Given the description of an element on the screen output the (x, y) to click on. 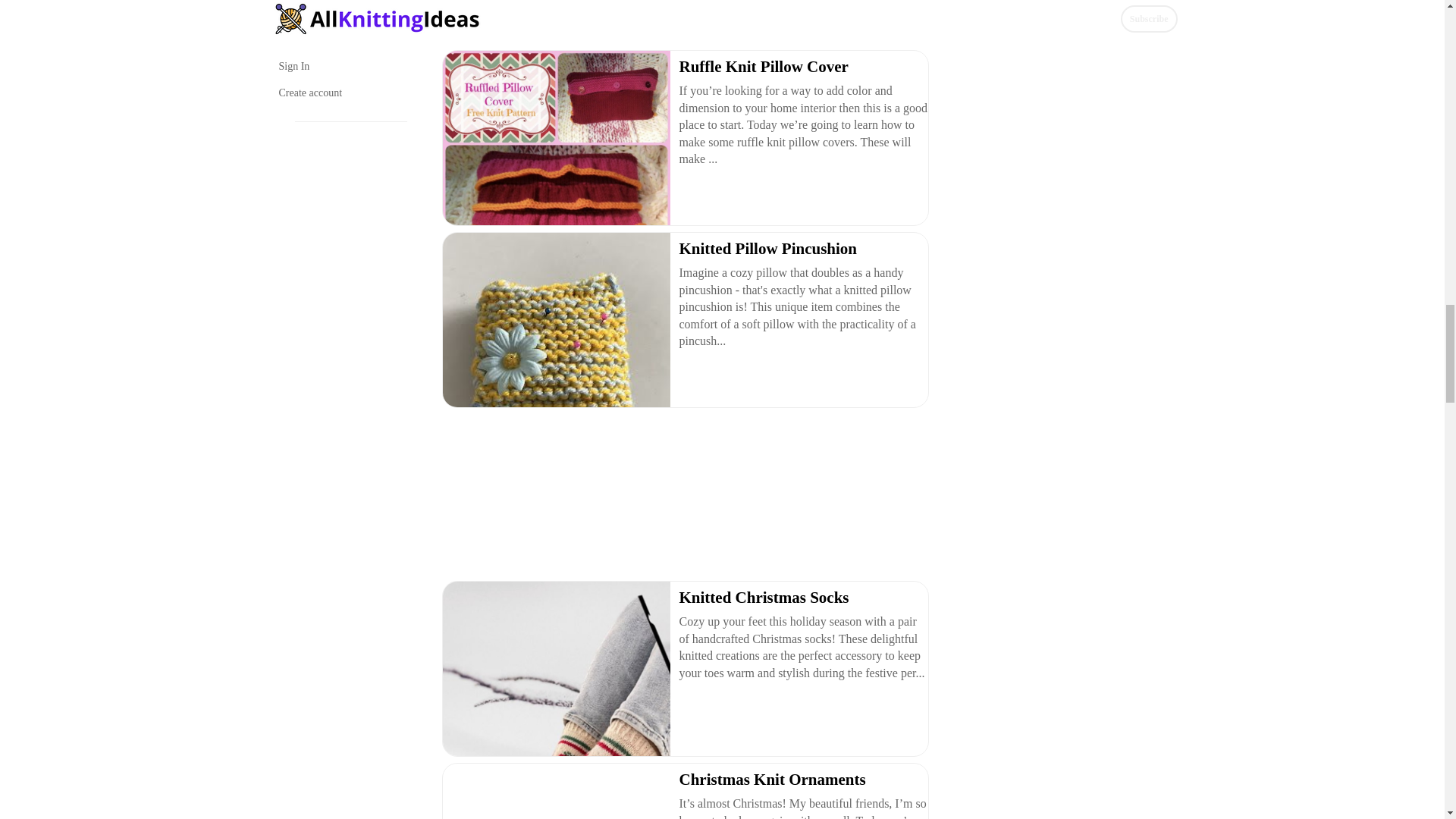
Advertisement (683, 497)
Advertisement (683, 21)
